Given the description of an element on the screen output the (x, y) to click on. 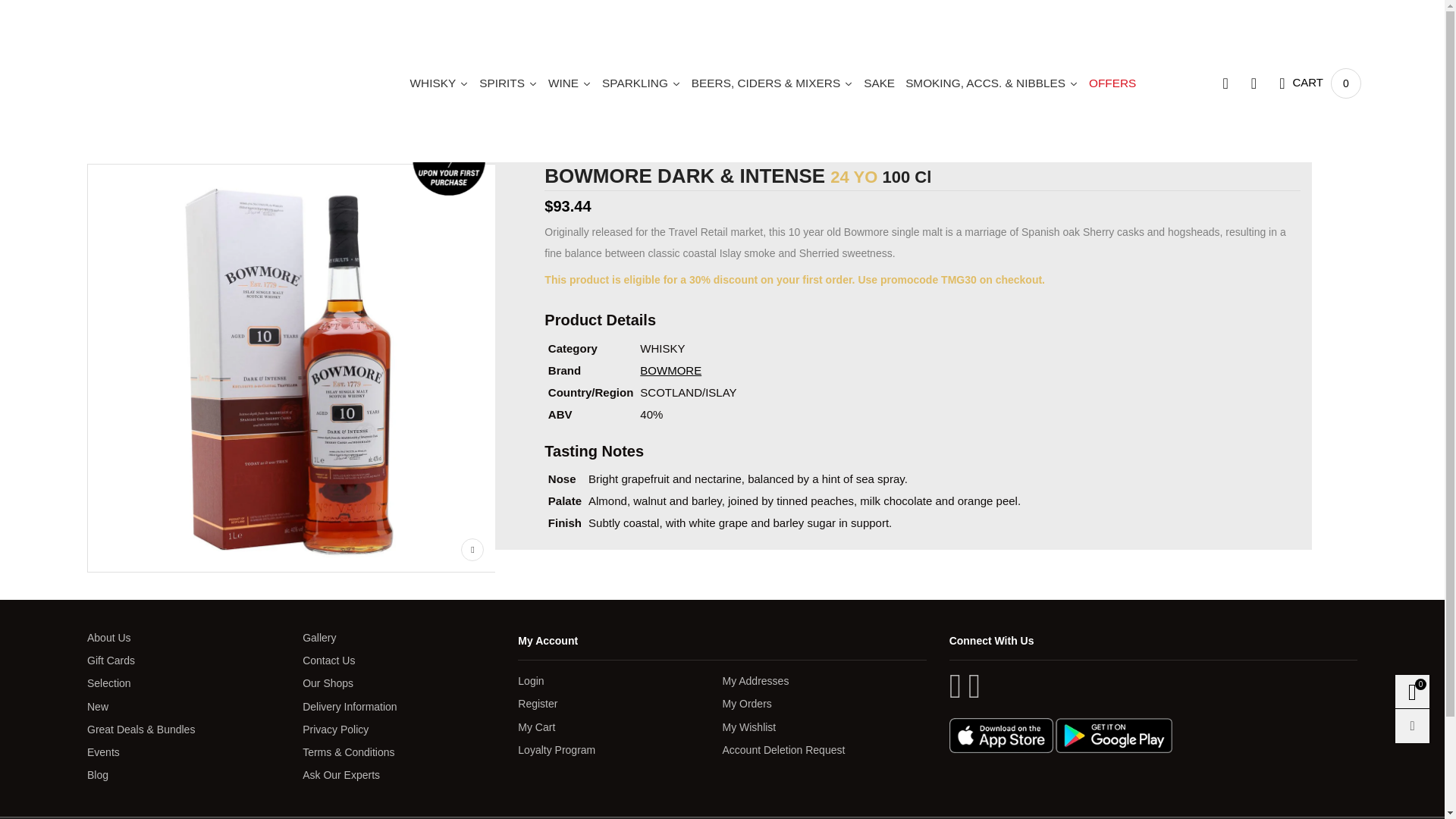
SAKE (879, 83)
SPIRITS (508, 83)
Search ... (1225, 83)
SAKE (879, 83)
SPARKLING (640, 83)
My Account (1253, 83)
WHISKY (439, 83)
WINE (569, 83)
SPARKLING (640, 83)
WHISKY (439, 83)
Sign In (1209, 315)
OFFERS (1320, 82)
OFFERS (1112, 83)
WINE (1112, 83)
